Given the description of an element on the screen output the (x, y) to click on. 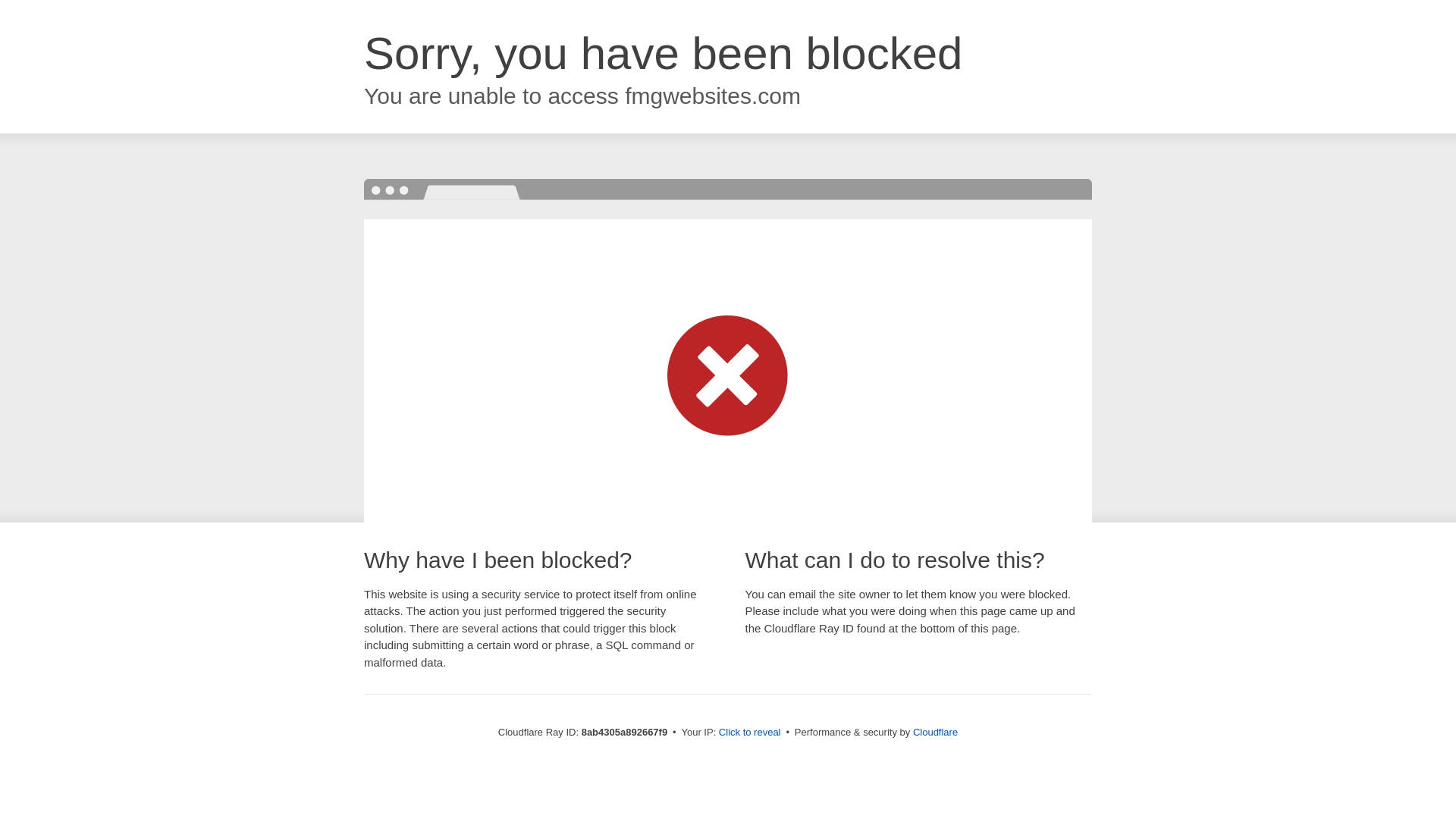
Click to reveal (749, 732)
Cloudflare (935, 731)
